Given the description of an element on the screen output the (x, y) to click on. 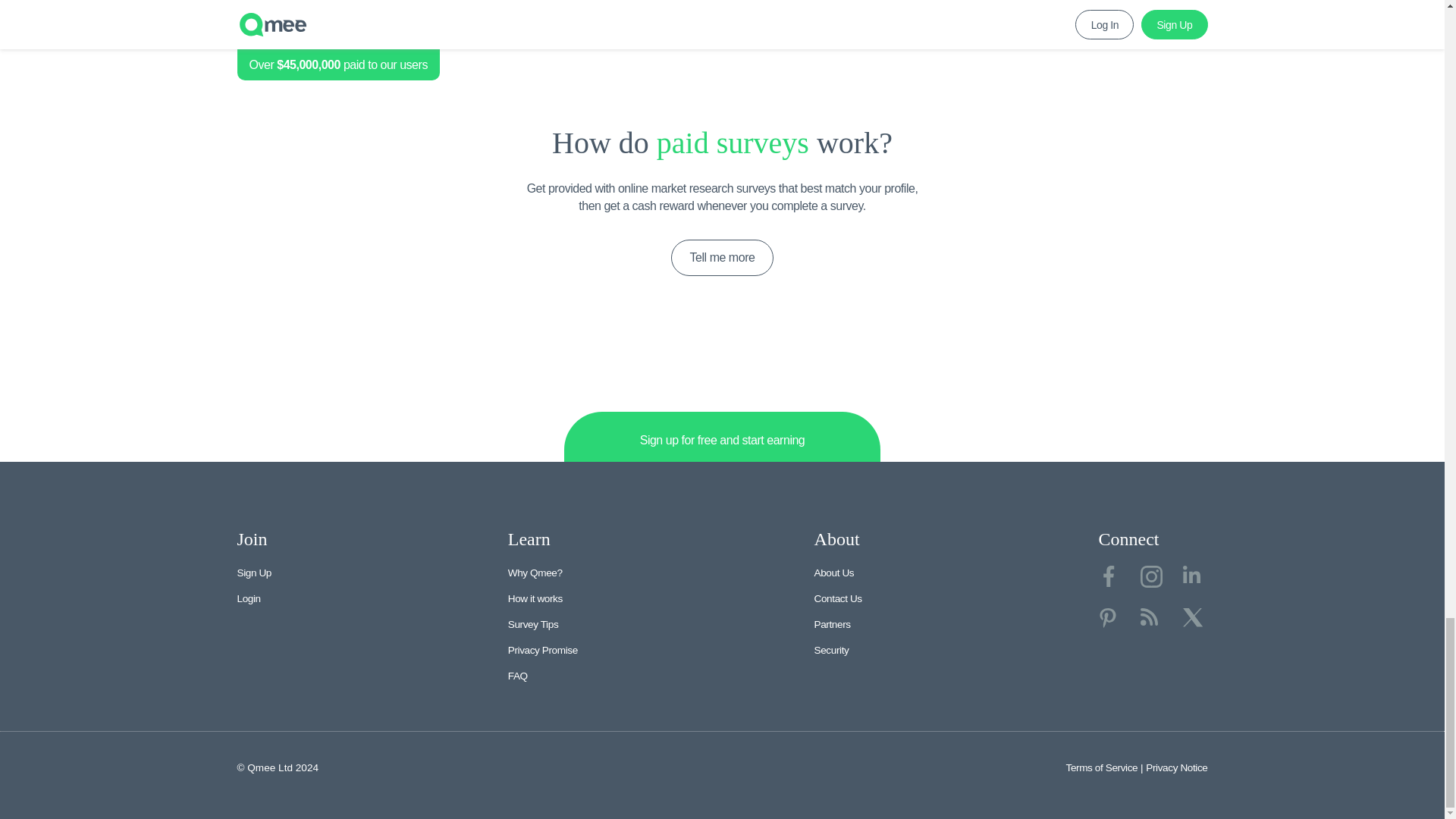
Sign Up (252, 572)
FAQ (517, 675)
Privacy Promise (543, 650)
Survey Tips (533, 624)
Login (247, 598)
Partners (831, 624)
Why Qmee? (535, 572)
About Us (833, 572)
How it works (535, 598)
Tell me more (722, 257)
Sign up for free and start earning (722, 438)
Contact Us (837, 598)
